Given the description of an element on the screen output the (x, y) to click on. 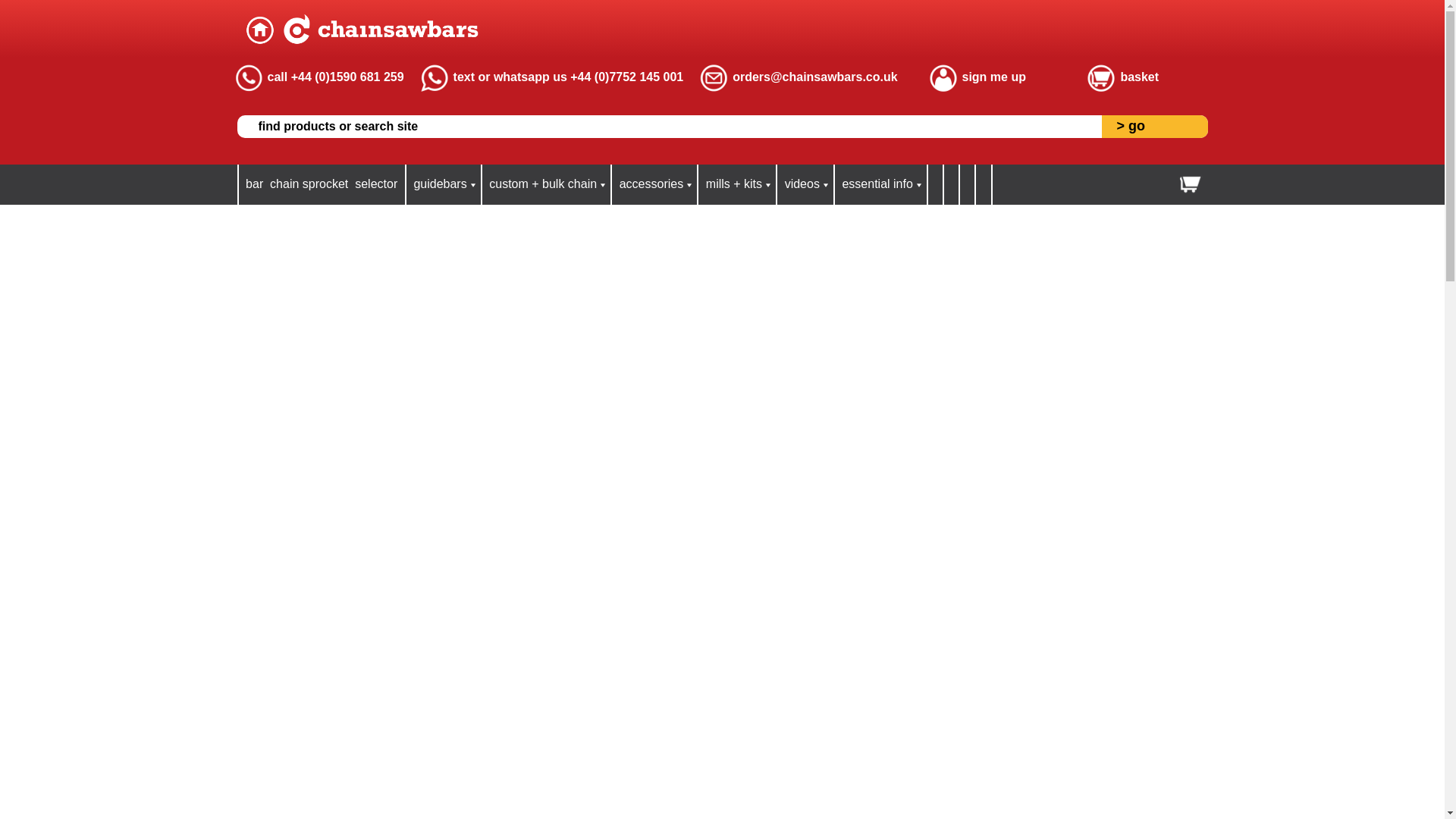
basket (1138, 76)
sign me up (992, 76)
